Given the description of an element on the screen output the (x, y) to click on. 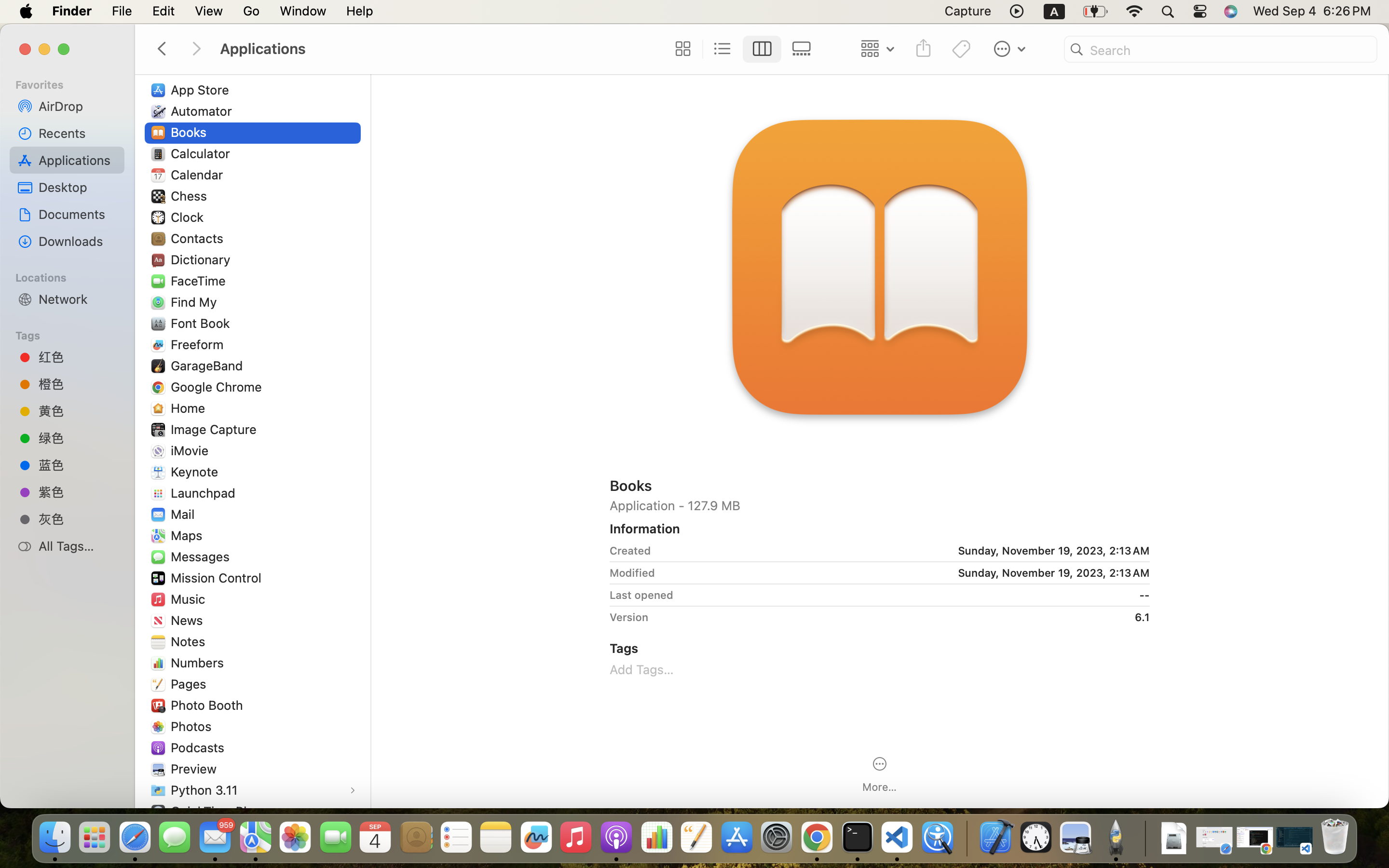
紫色 Element type: AXStaticText (77, 491)
Freeform Element type: AXTextField (198, 344)
Pages Element type: AXTextField (190, 683)
Desktop Element type: AXStaticText (77, 186)
Books Element type: AXTextField (190, 131)
